Given the description of an element on the screen output the (x, y) to click on. 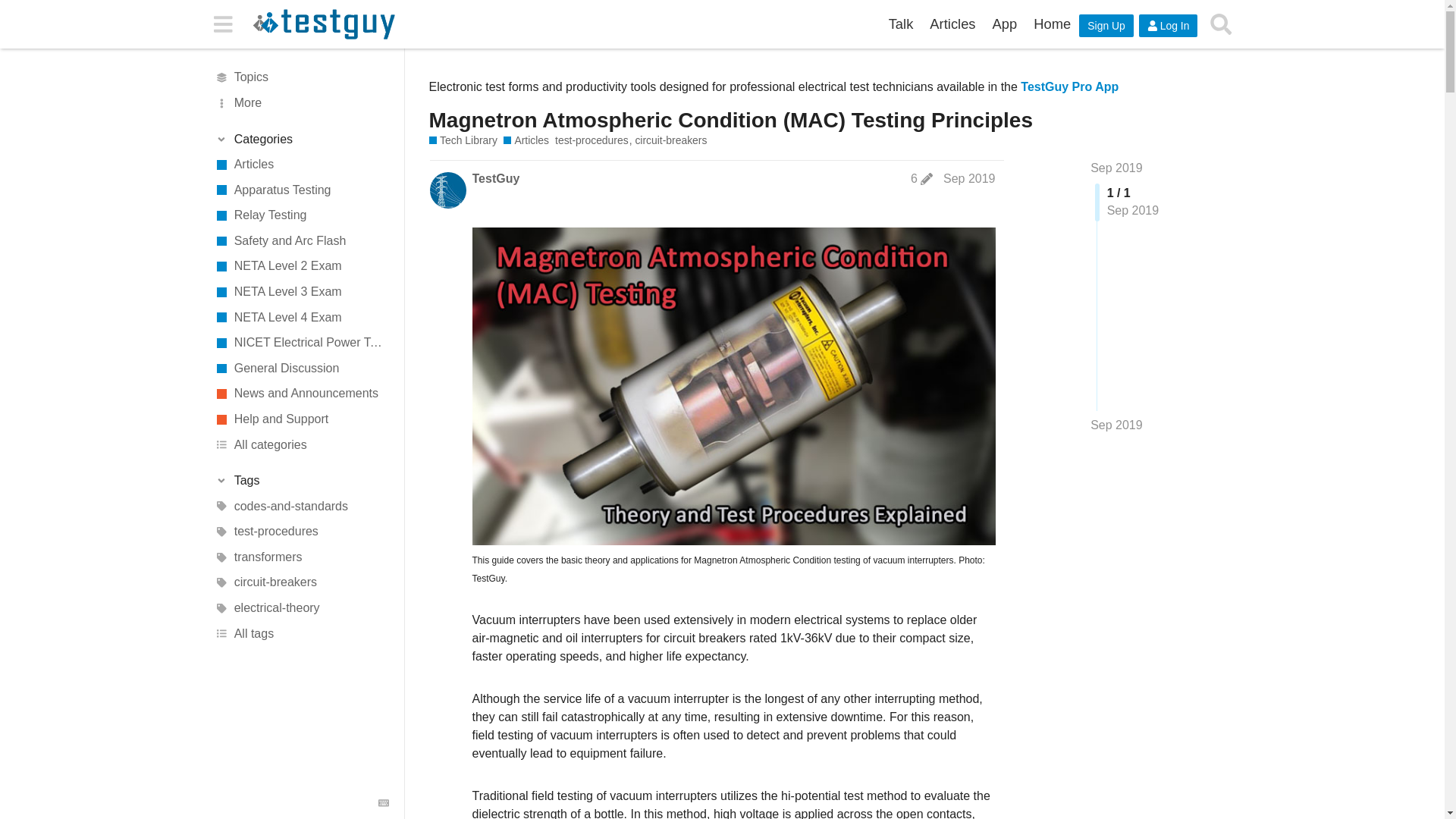
circuit-breakers (301, 583)
codes-and-standards (301, 506)
Topics (301, 77)
Talk (900, 23)
Search (1220, 23)
Help and Support (301, 419)
Toggle section (301, 139)
Back to Homepage (1051, 23)
More (301, 103)
Discuss the NETA Level IV Senior ETT exam. (301, 317)
